Given the description of an element on the screen output the (x, y) to click on. 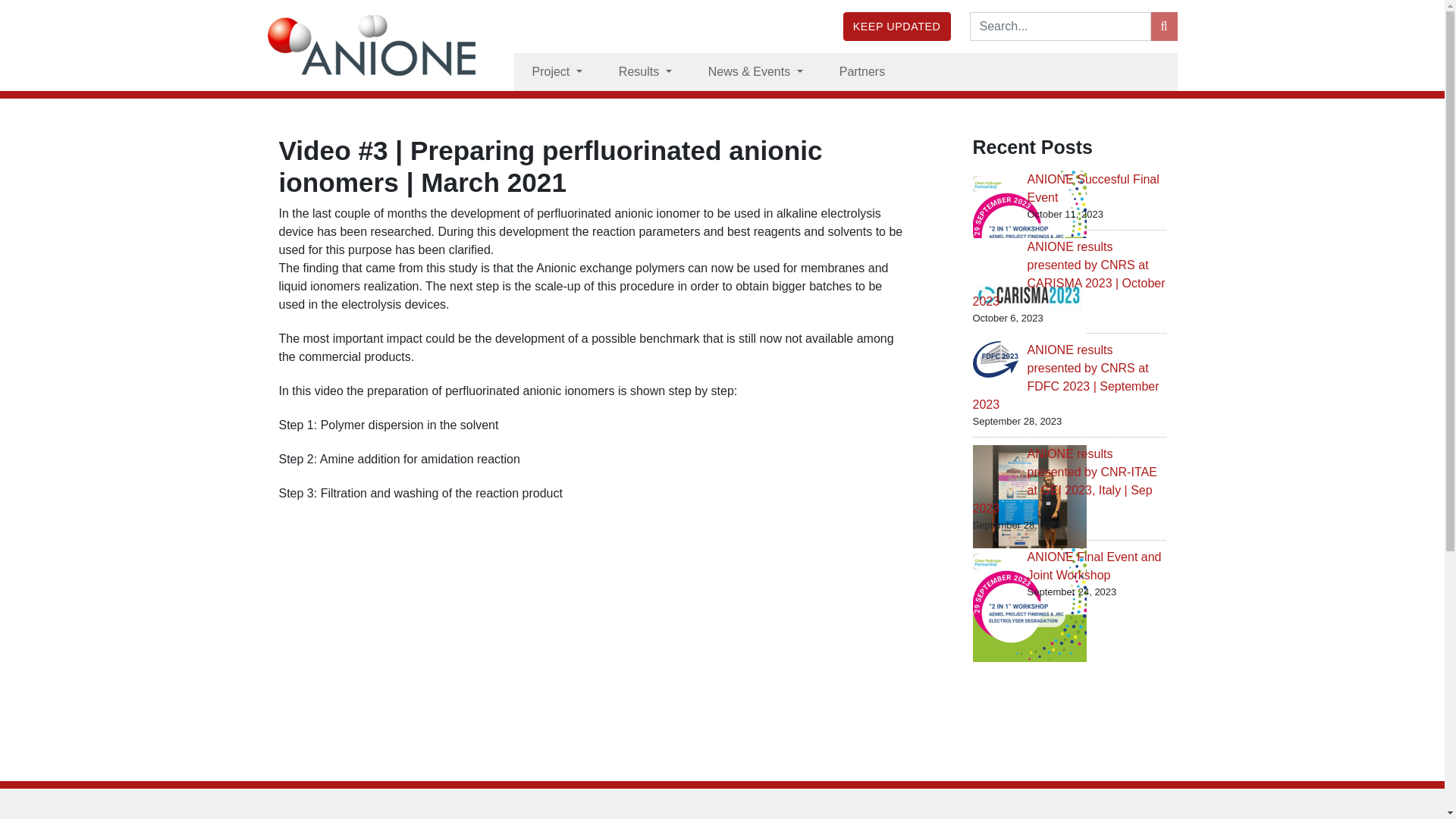
Results (644, 71)
Partners (861, 71)
ANIONE Succesful Final Event (1092, 187)
Project (556, 71)
KEEP UPDATED (896, 26)
